Given the description of an element on the screen output the (x, y) to click on. 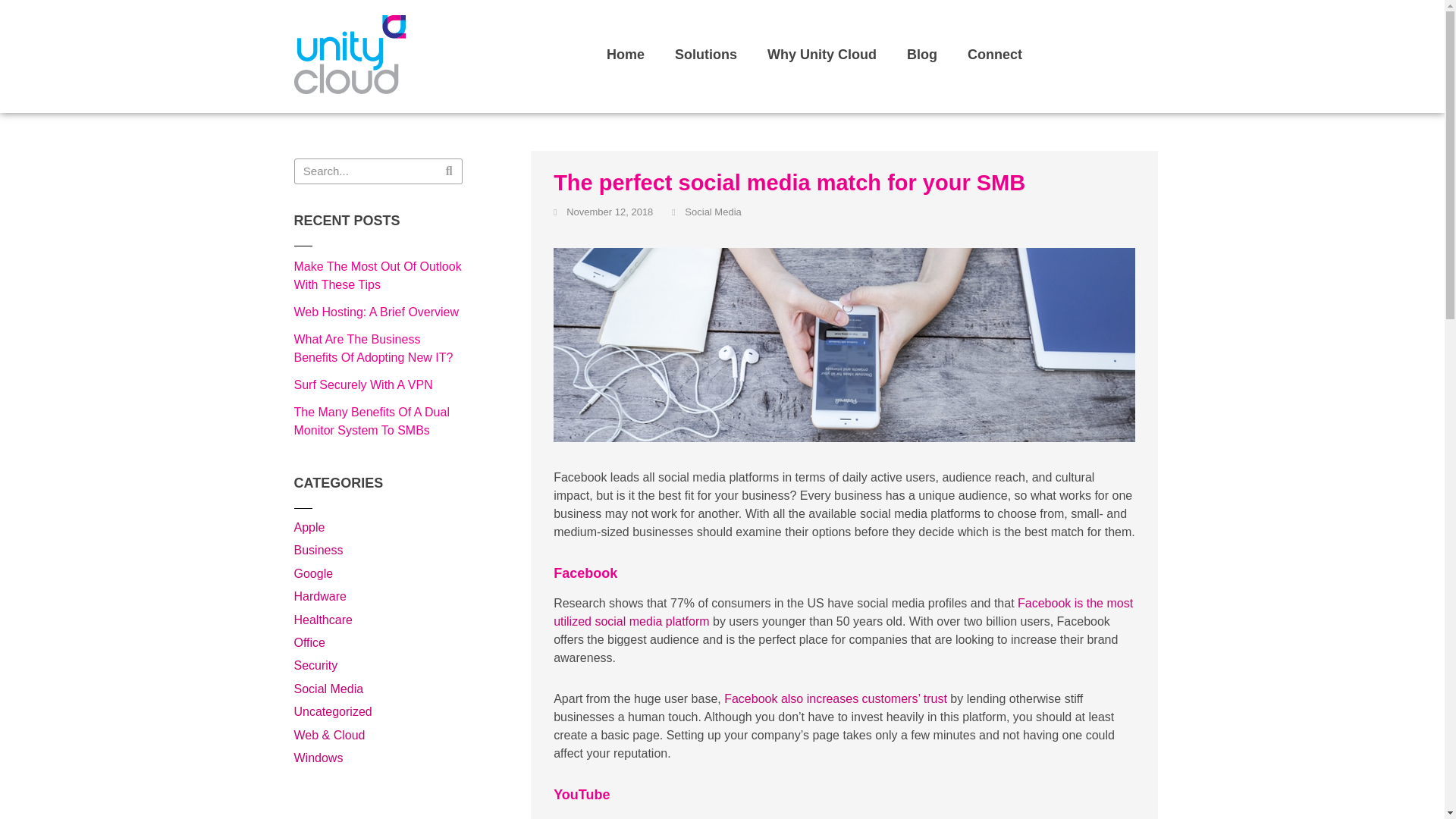
Home (625, 54)
Connect (994, 54)
Solutions (705, 54)
Blog (921, 54)
Why Unity Cloud (821, 54)
